Given the description of an element on the screen output the (x, y) to click on. 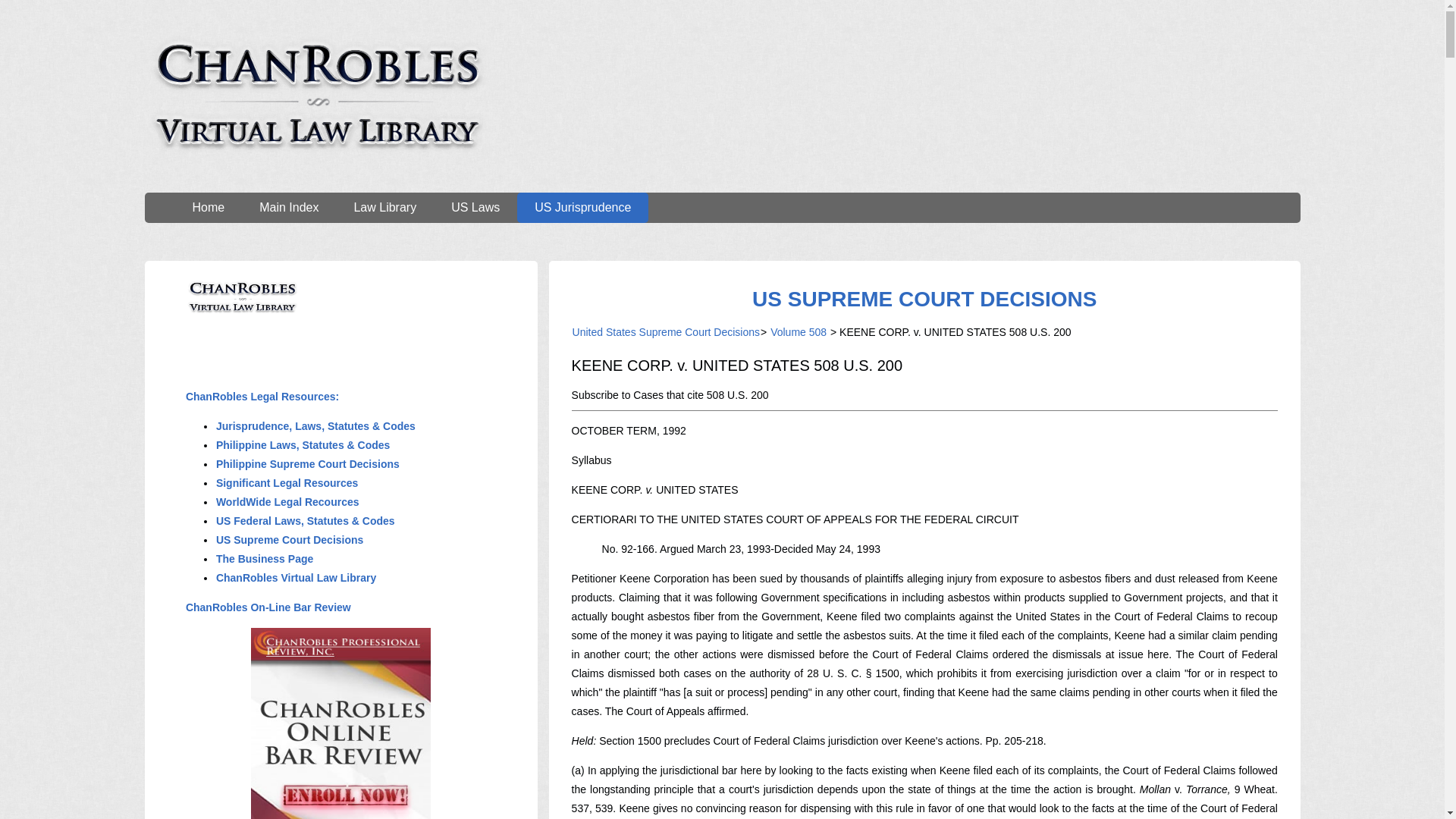
Home (207, 207)
United States Supreme Court Decisions - On-Line (924, 299)
WorldWide Legal Recources (287, 501)
Volume 508 (798, 331)
The Business Page (264, 558)
Philippine Supreme Court Decisions (307, 463)
ChanRobles Virtual Law Library (296, 577)
Main Index (288, 207)
US SUPREME COURT DECISIONS (924, 299)
US Supreme Court Decisions (290, 539)
